Given the description of an element on the screen output the (x, y) to click on. 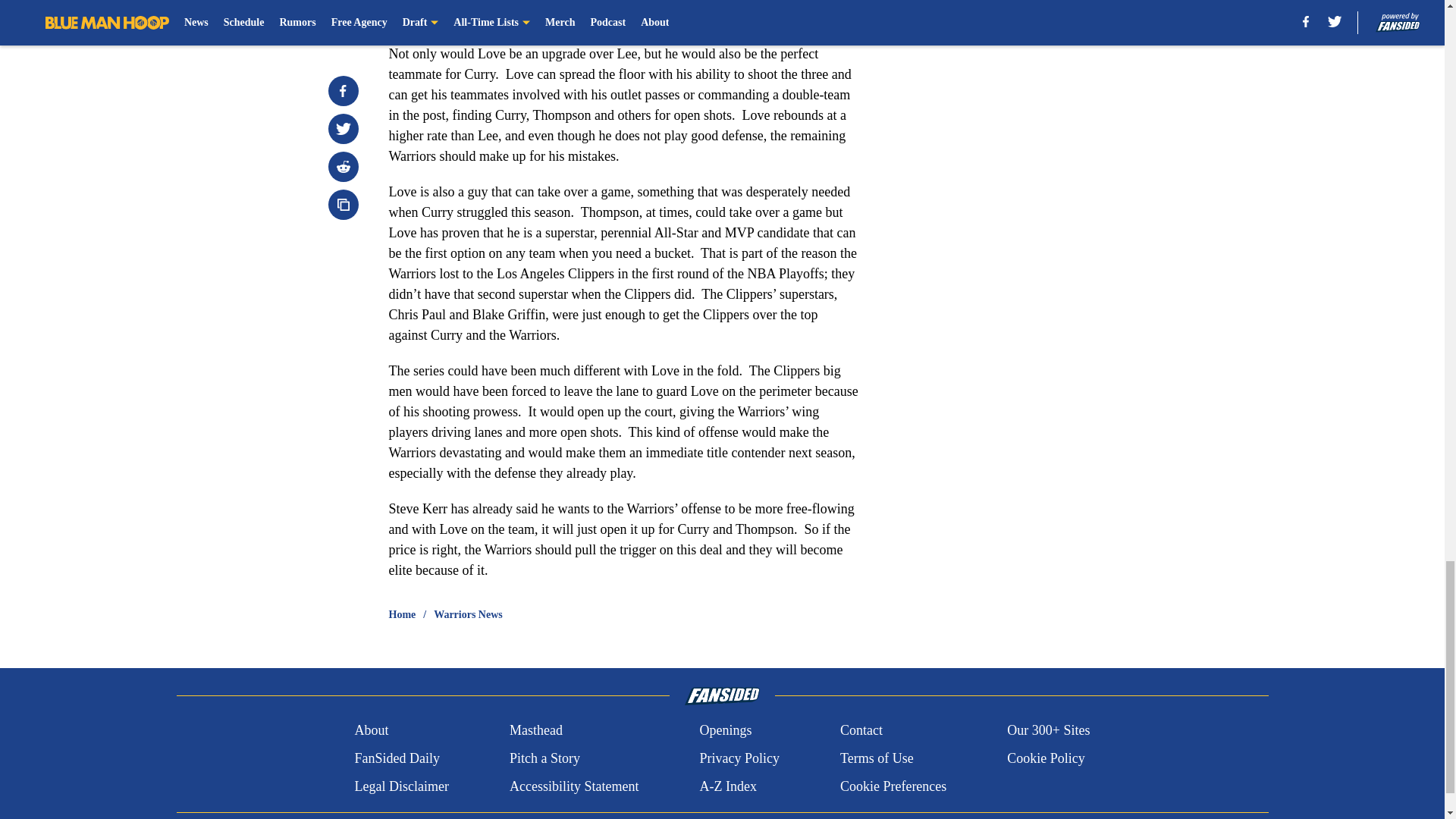
Cookie Policy (1045, 758)
Warriors News (467, 614)
Openings (724, 730)
Masthead (535, 730)
About (370, 730)
Contact (861, 730)
Privacy Policy (738, 758)
Terms of Use (877, 758)
Pitch a Story (544, 758)
FanSided Daily (396, 758)
Home (401, 614)
